Given the description of an element on the screen output the (x, y) to click on. 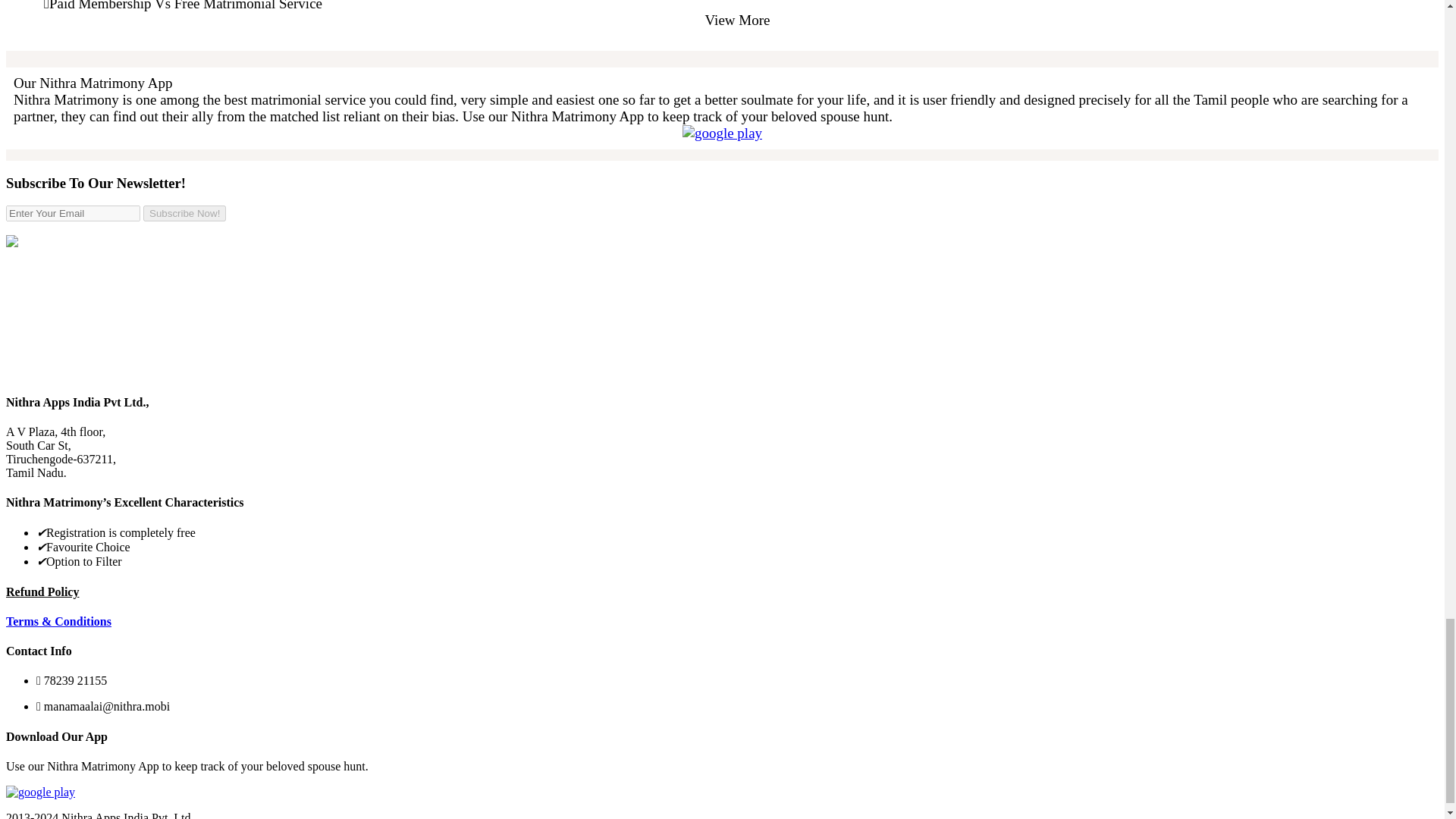
Subscribe Now! (183, 213)
